Given the description of an element on the screen output the (x, y) to click on. 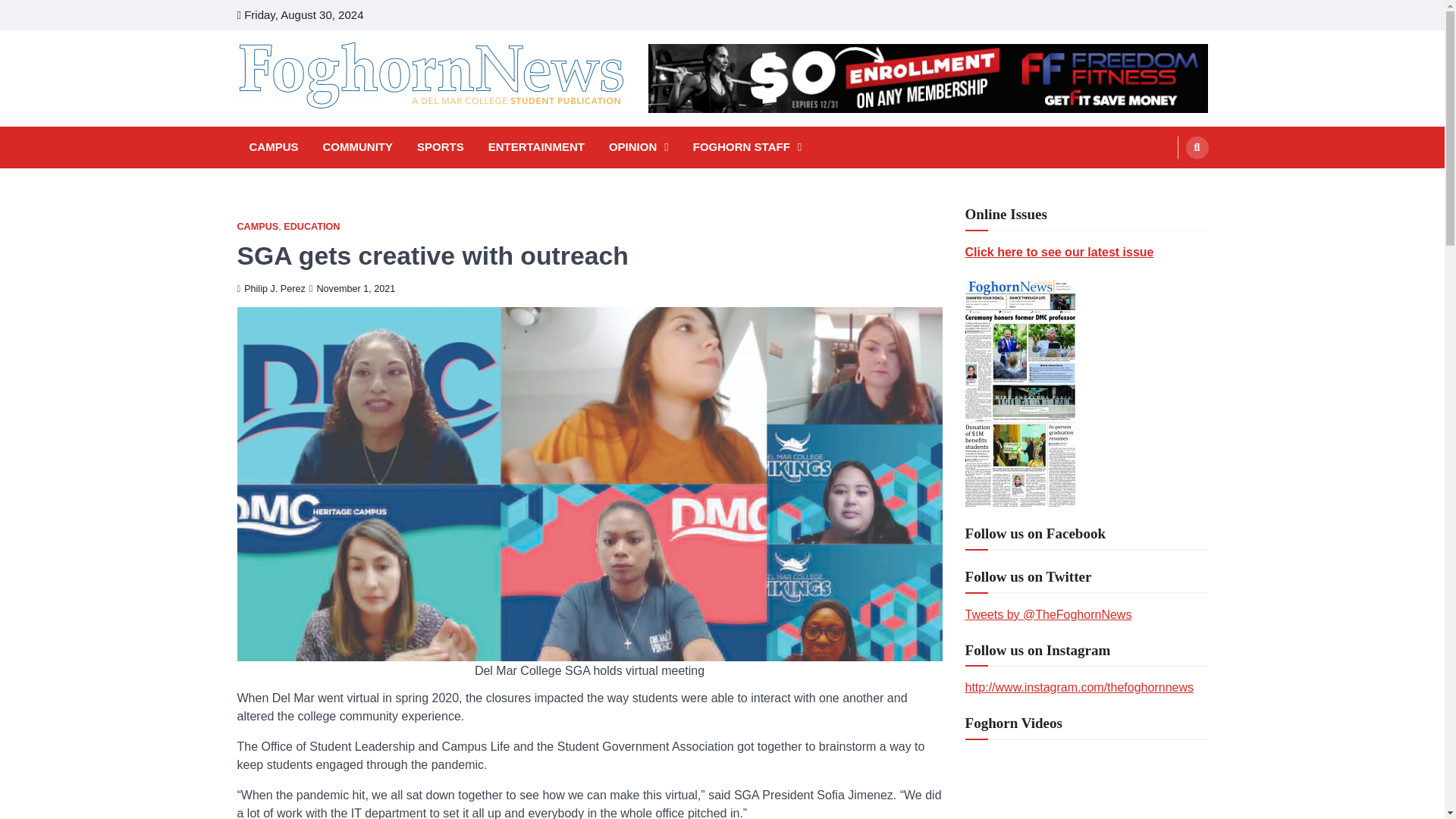
Click here to see our latest issue (1058, 251)
November 1, 2021 (352, 288)
Philip J. Perez (269, 288)
FOGHORN NEWS (342, 130)
Search (1168, 183)
COMMUNITY (357, 147)
FOGHORN STAFF (747, 147)
EDUCATION (311, 226)
Search (1197, 147)
OPINION (638, 147)
